Given the description of an element on the screen output the (x, y) to click on. 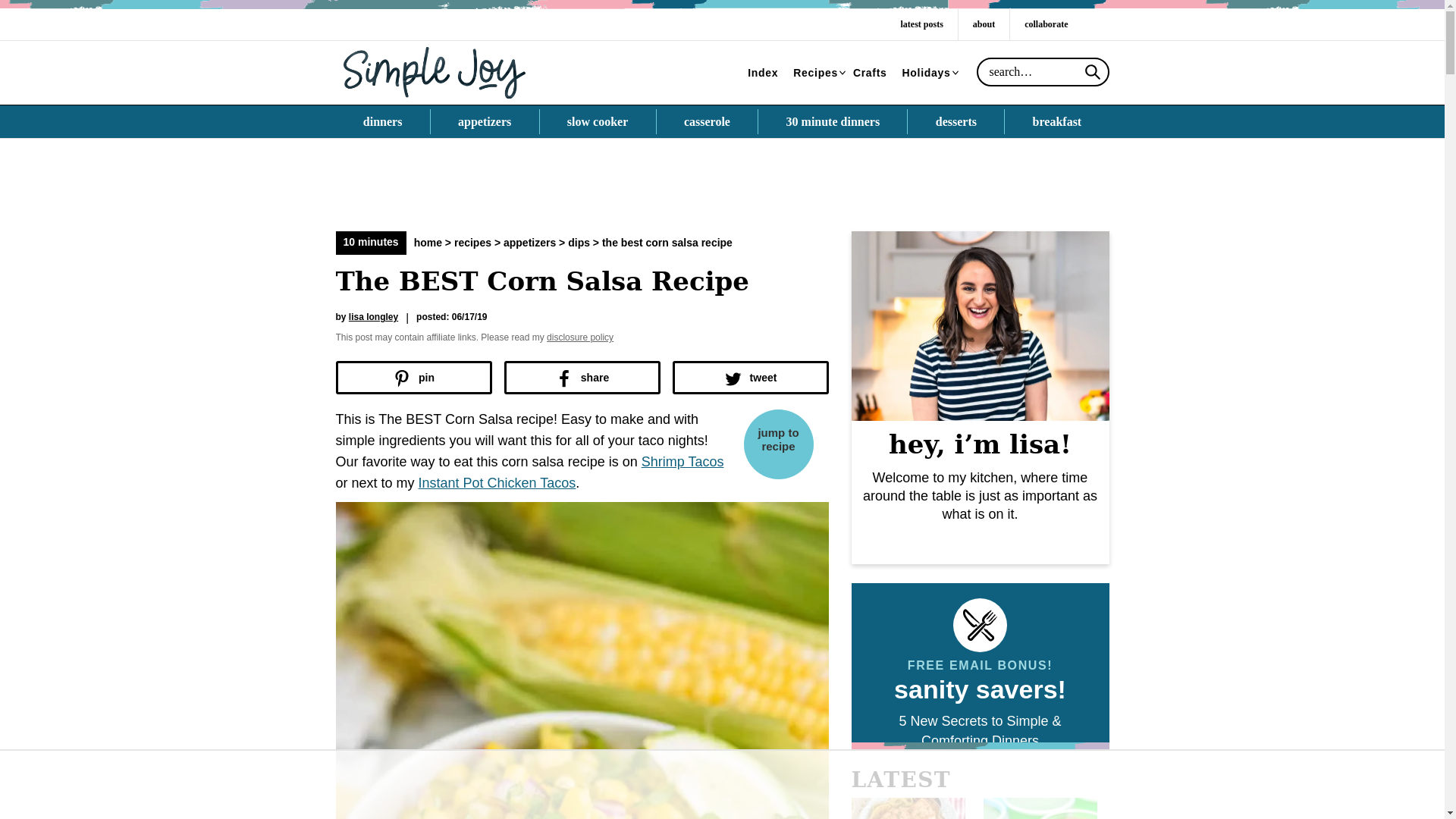
Shrimp Tacos (682, 461)
Simple Joy (433, 71)
Share on Facebook (581, 377)
latest posts (920, 24)
Index (762, 72)
Recipes (815, 72)
about (983, 24)
collaborate (1045, 24)
Share on Pinterest (413, 377)
Share on Twitter (749, 377)
Instant Pot Chicken Tacos (497, 482)
Search for (1042, 71)
